Given the description of an element on the screen output the (x, y) to click on. 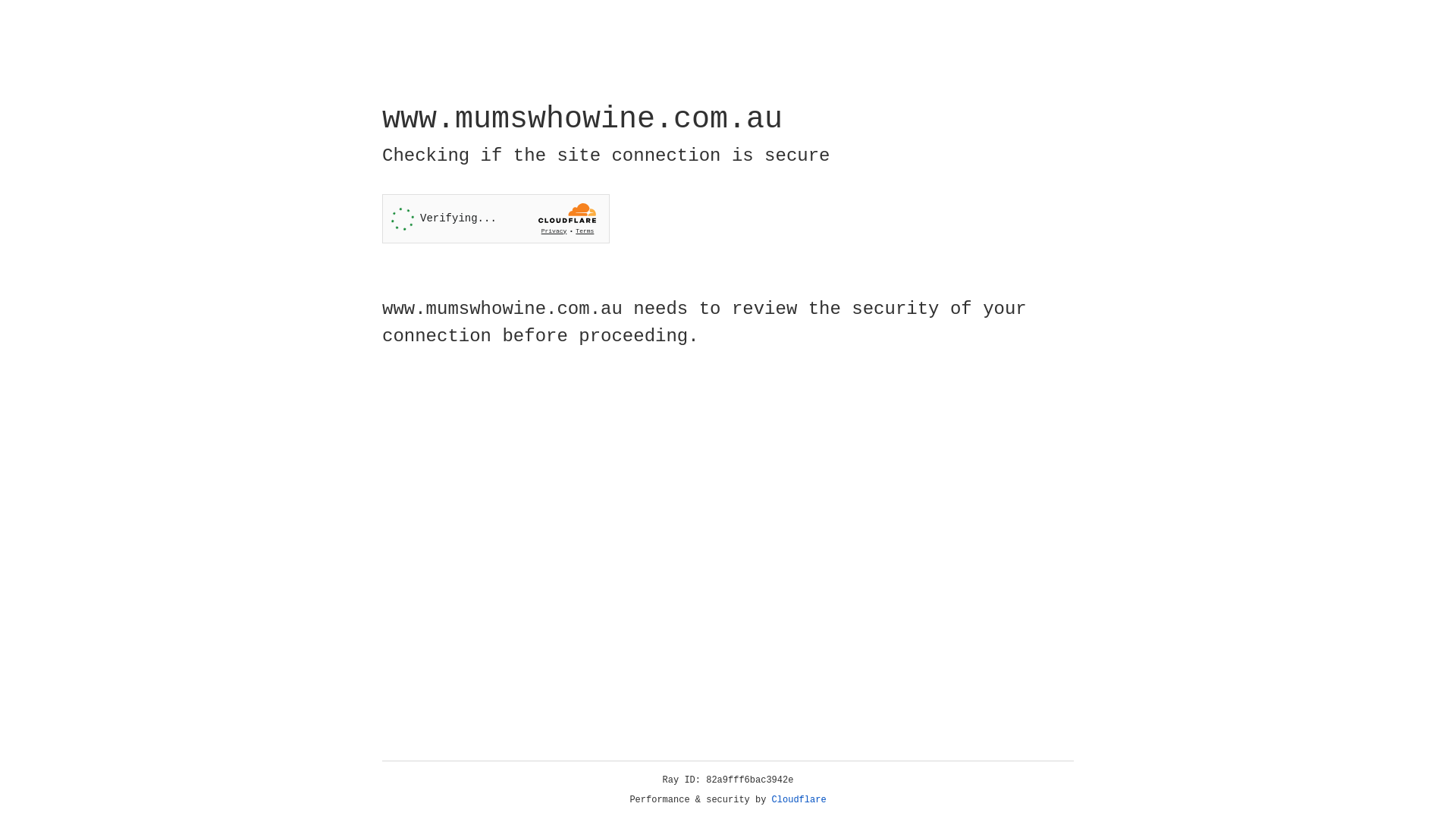
Cloudflare Element type: text (798, 799)
Widget containing a Cloudflare security challenge Element type: hover (495, 218)
